Given the description of an element on the screen output the (x, y) to click on. 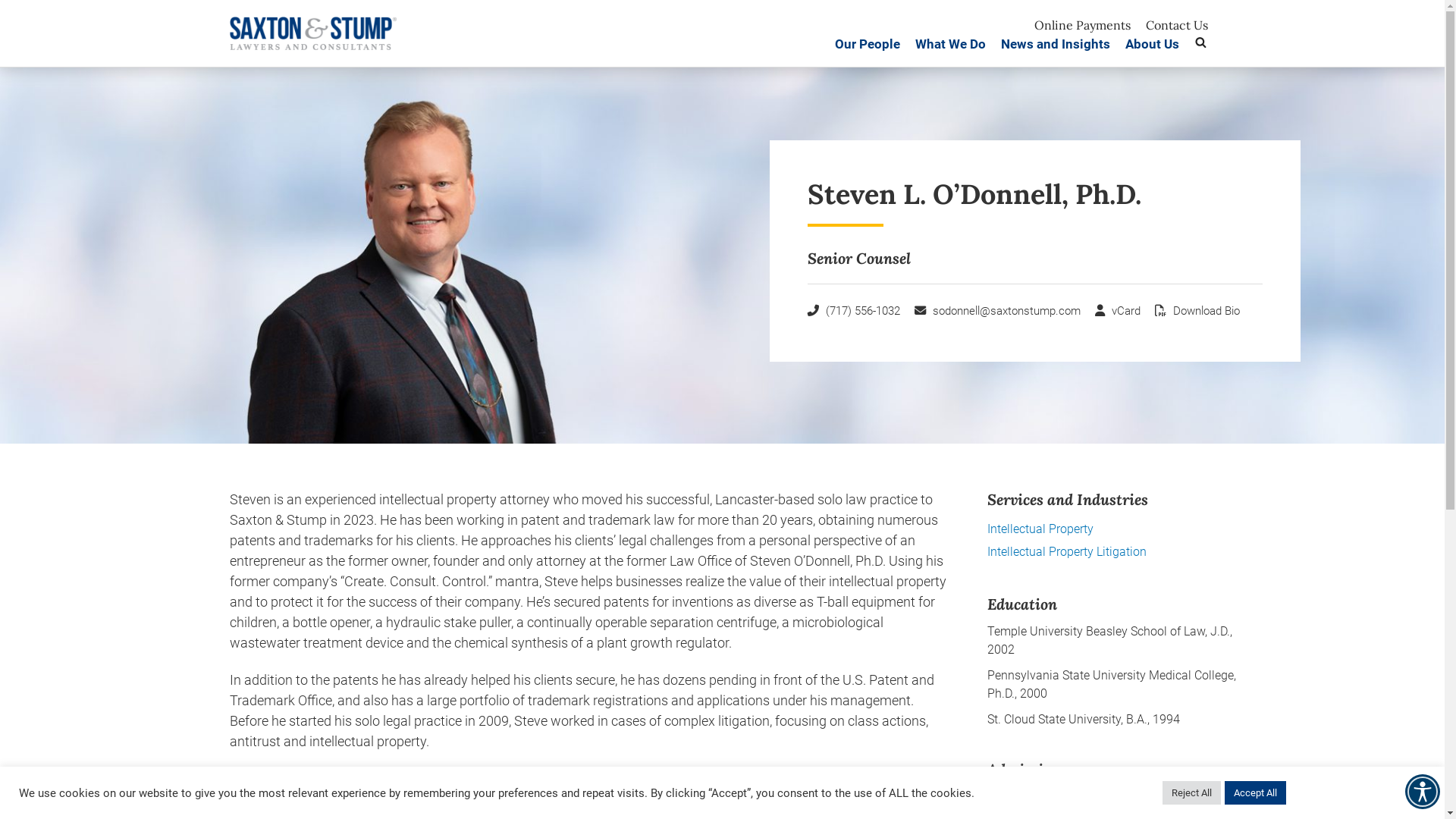
Online Payments Element type: text (1082, 24)
vCard Element type: text (1117, 310)
Intellectual Property Litigation Element type: text (1066, 551)
Our People Element type: text (866, 49)
What We Do Element type: text (949, 49)
SEARCH Element type: text (1200, 41)
Contact Us Element type: text (1175, 24)
Reject All Element type: text (1191, 792)
sodonnell@saxtonstump.com Element type: text (997, 310)
Download Bio Element type: text (1196, 310)
About Us Element type: text (1151, 49)
News and Insights Element type: text (1055, 49)
Intellectual Property Element type: text (1040, 528)
(717) 556-1032 Element type: text (852, 310)
Accept All Element type: text (1255, 792)
Saxton & Stump Element type: text (380, 37)
